Given the description of an element on the screen output the (x, y) to click on. 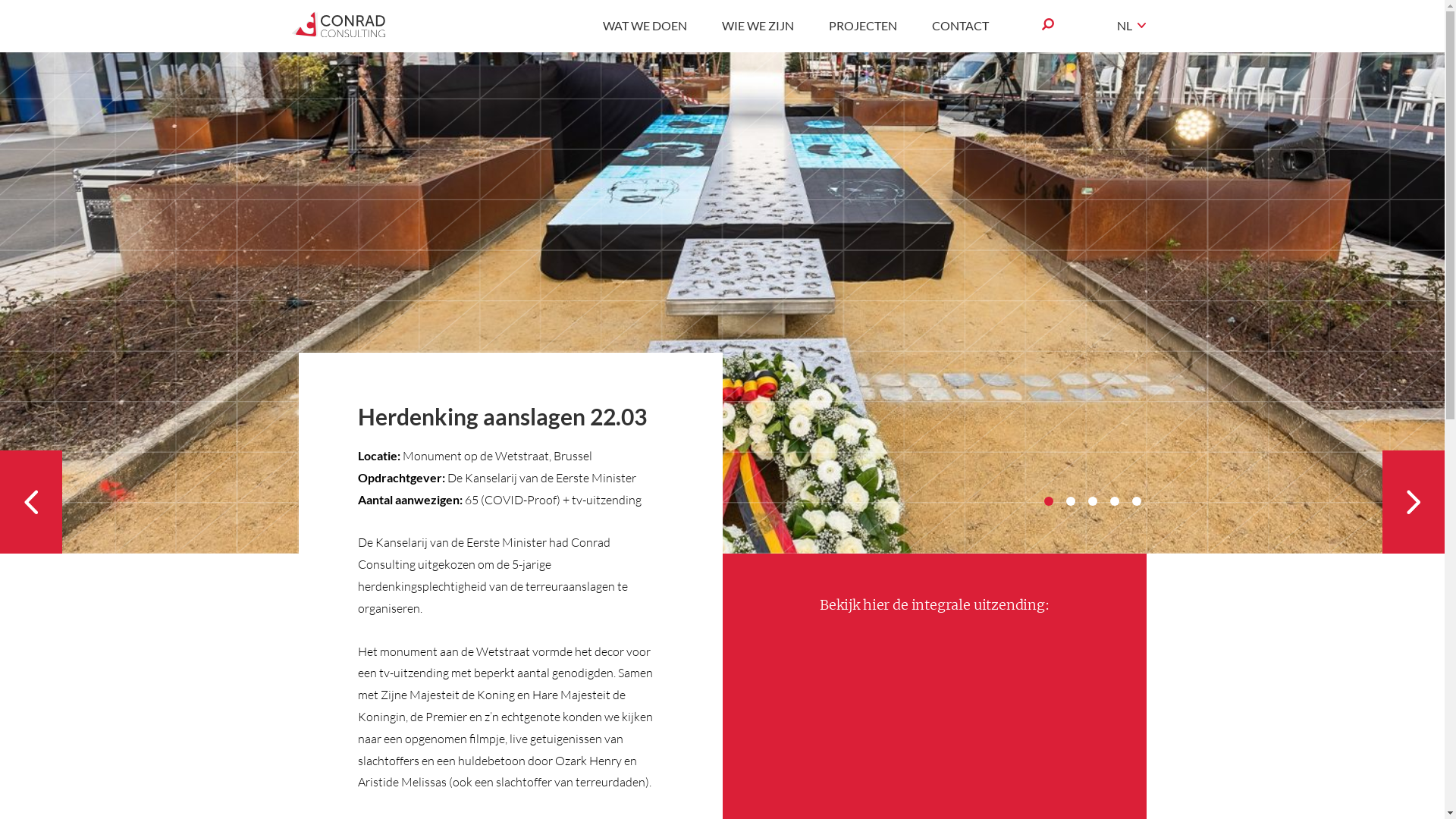
NL Element type: text (1124, 25)
WAT WE DOEN Element type: text (644, 25)
CONTACT Element type: text (959, 25)
Previous Element type: text (31, 501)
PROJECTEN Element type: text (862, 25)
WIE WE ZIJN Element type: text (757, 25)
Next Element type: text (1413, 501)
